Given the description of an element on the screen output the (x, y) to click on. 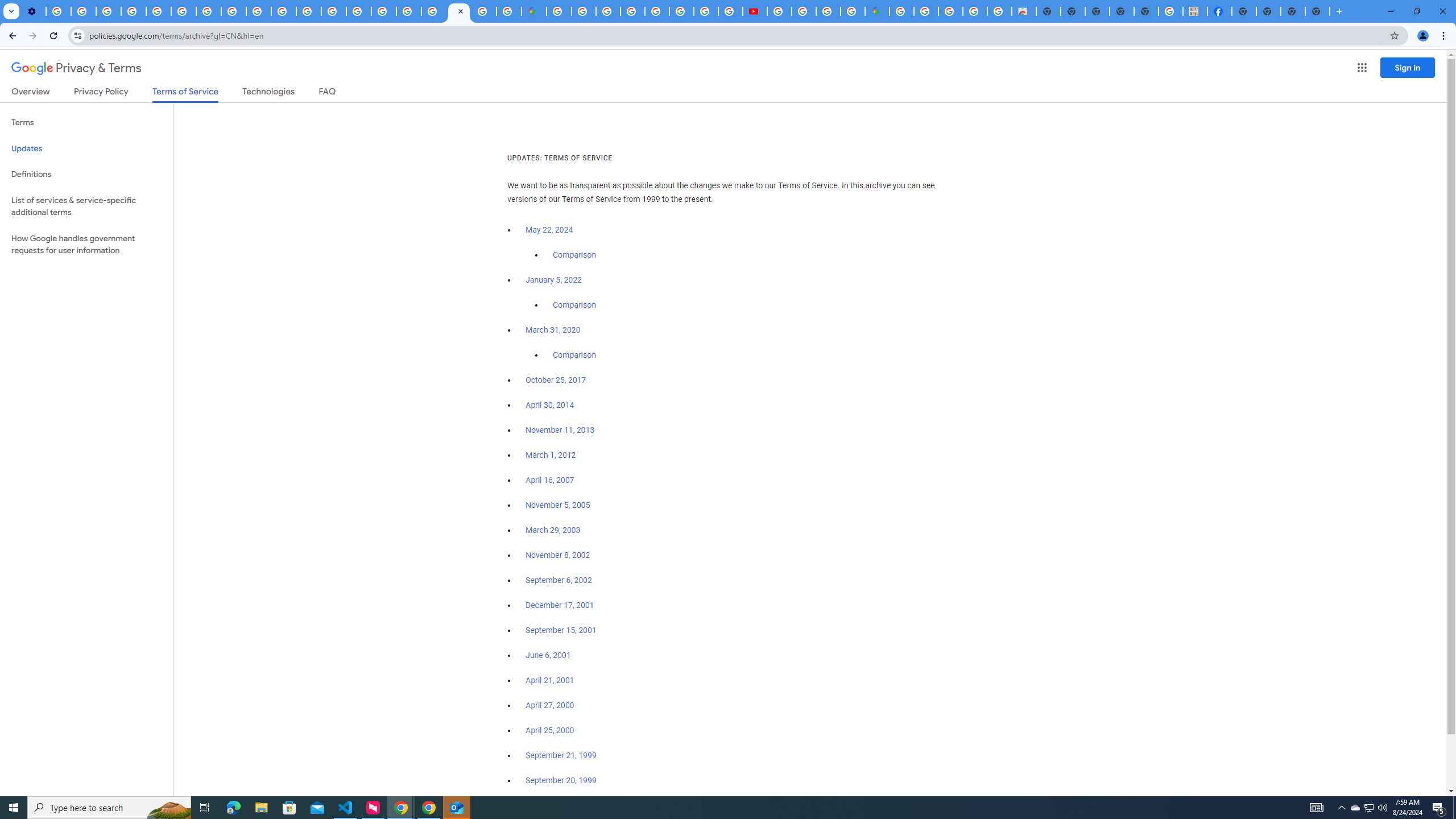
Privacy Help Center - Policies Help (332, 11)
May 22, 2024 (549, 230)
June 6, 2001 (547, 655)
